Given the description of an element on the screen output the (x, y) to click on. 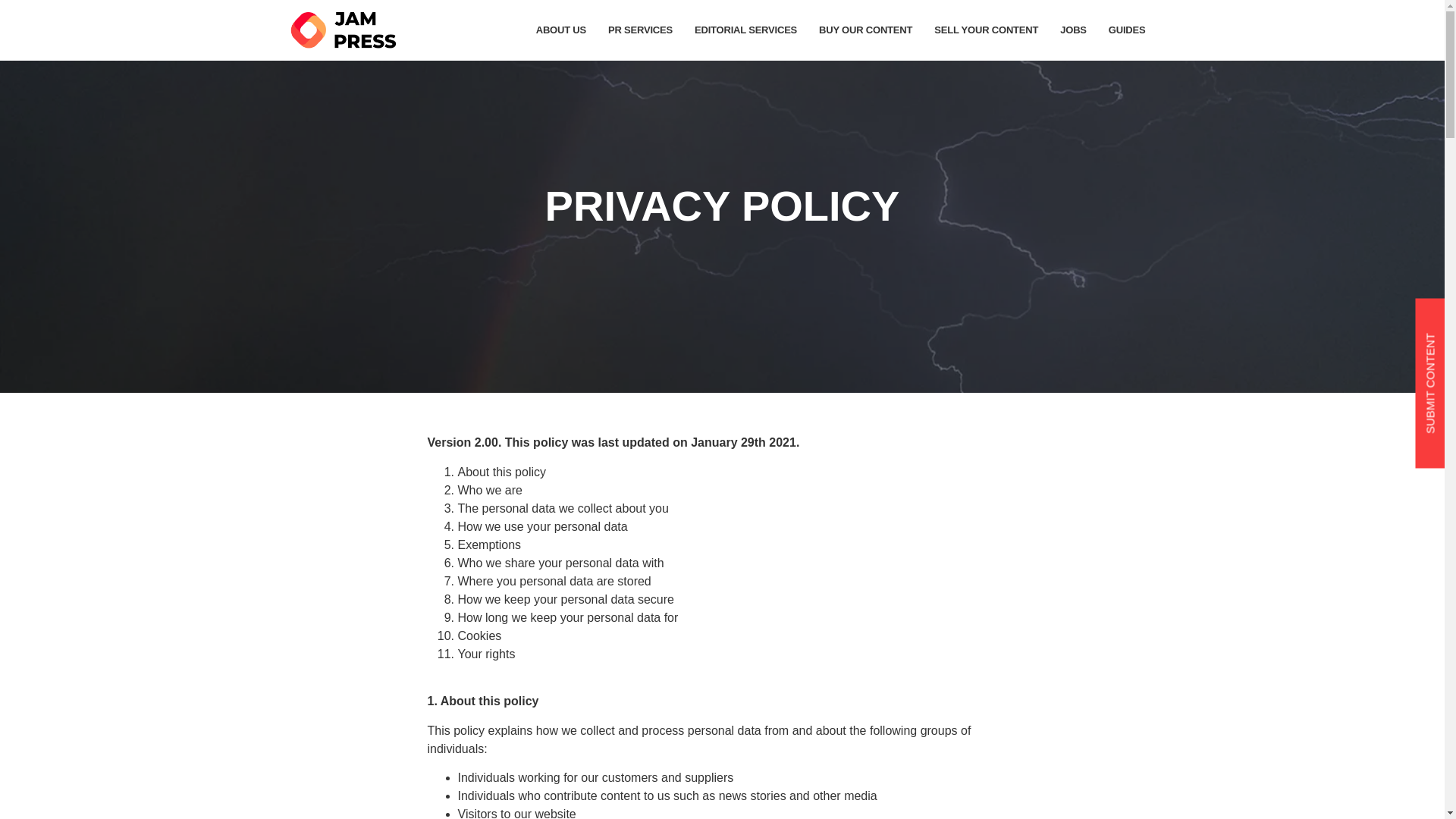
PR SERVICES (639, 30)
SELL YOUR CONTENT (985, 30)
EDITORIAL SERVICES (745, 30)
ABOUT US (561, 30)
BUY OUR CONTENT (865, 30)
GUIDES (1126, 30)
JOBS (1073, 30)
